Given the description of an element on the screen output the (x, y) to click on. 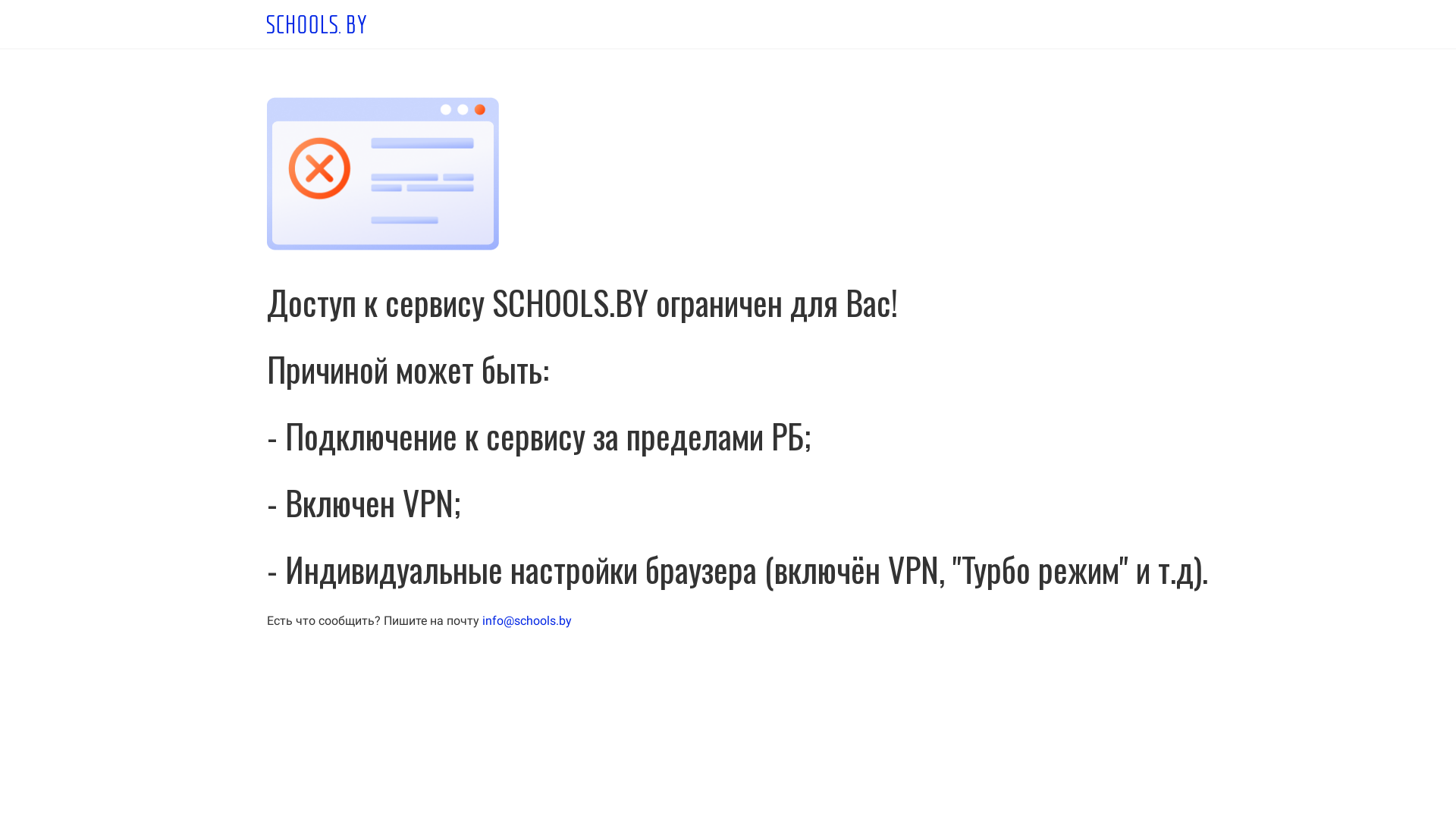
info@schools.by Element type: text (526, 620)
